Given the description of an element on the screen output the (x, y) to click on. 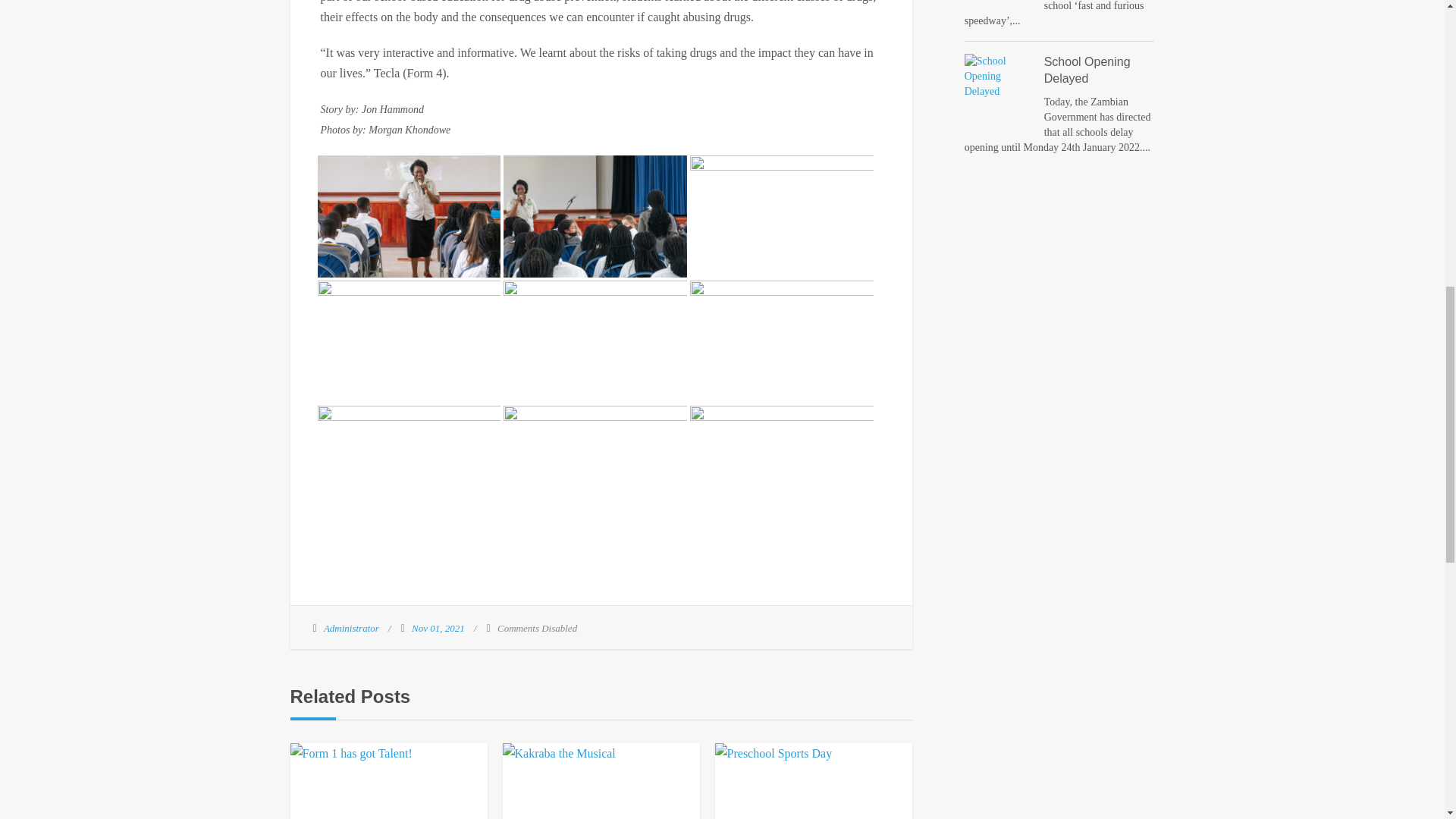
Preschool Sports Day (813, 780)
Kakraba the Musical (601, 780)
Monday, November, 2021, 9:10 am (438, 627)
Administrator (350, 627)
Form 1 has got Talent! (388, 780)
